Given the description of an element on the screen output the (x, y) to click on. 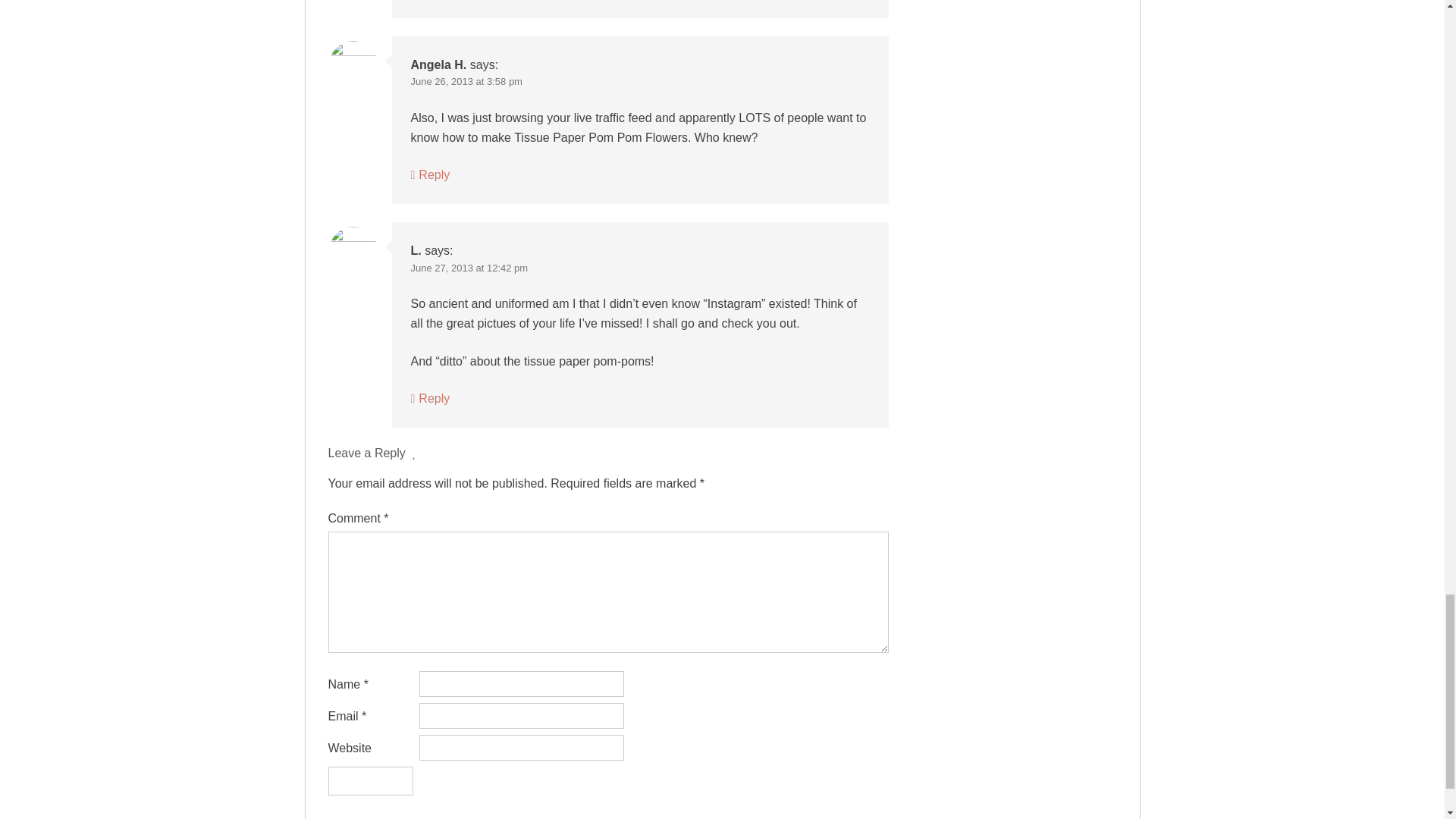
Post Comment (369, 780)
June 27, 2013 at 12:42 pm (469, 267)
Reply (429, 398)
June 26, 2013 at 3:58 pm (466, 81)
Reply (429, 174)
Post Comment (369, 780)
